Given the description of an element on the screen output the (x, y) to click on. 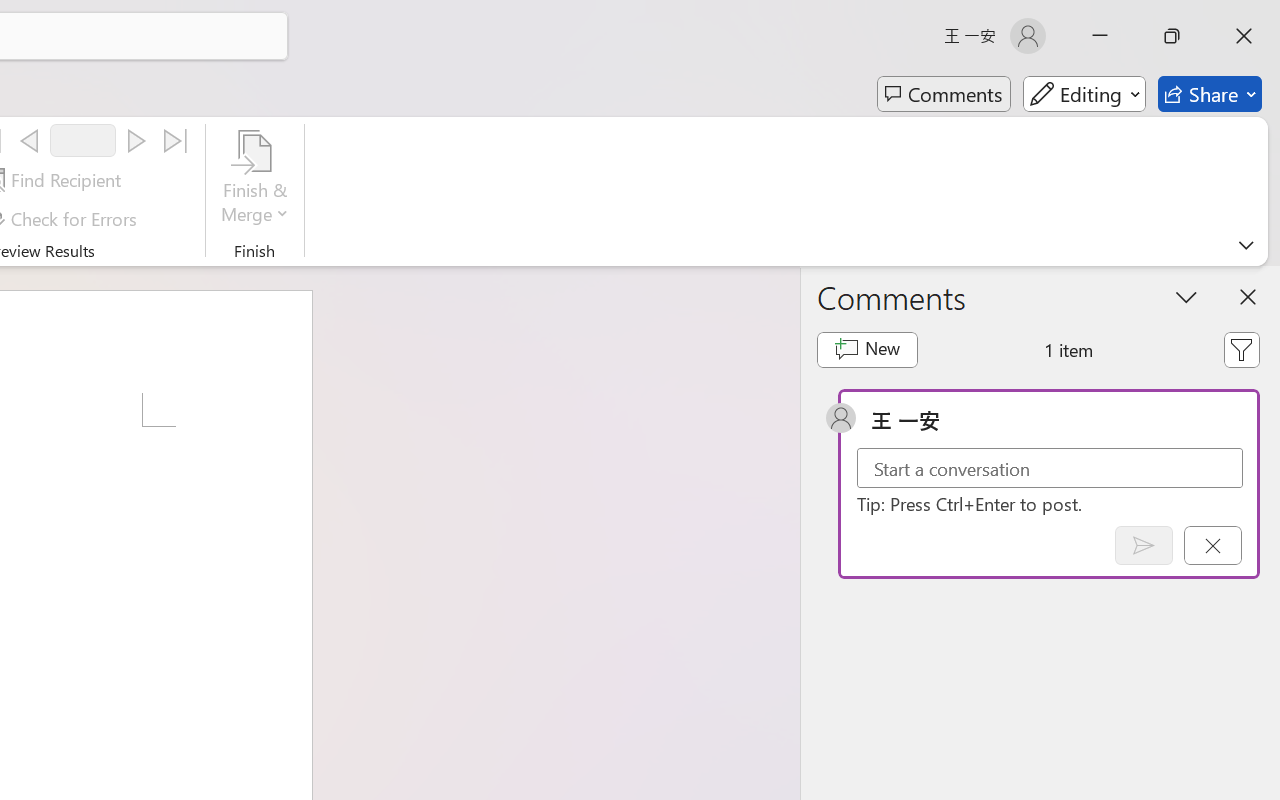
Filter (1241, 350)
Previous (29, 141)
Start a conversation (1050, 467)
Record (83, 140)
Cancel (1212, 545)
Next (136, 141)
